Given the description of an element on the screen output the (x, y) to click on. 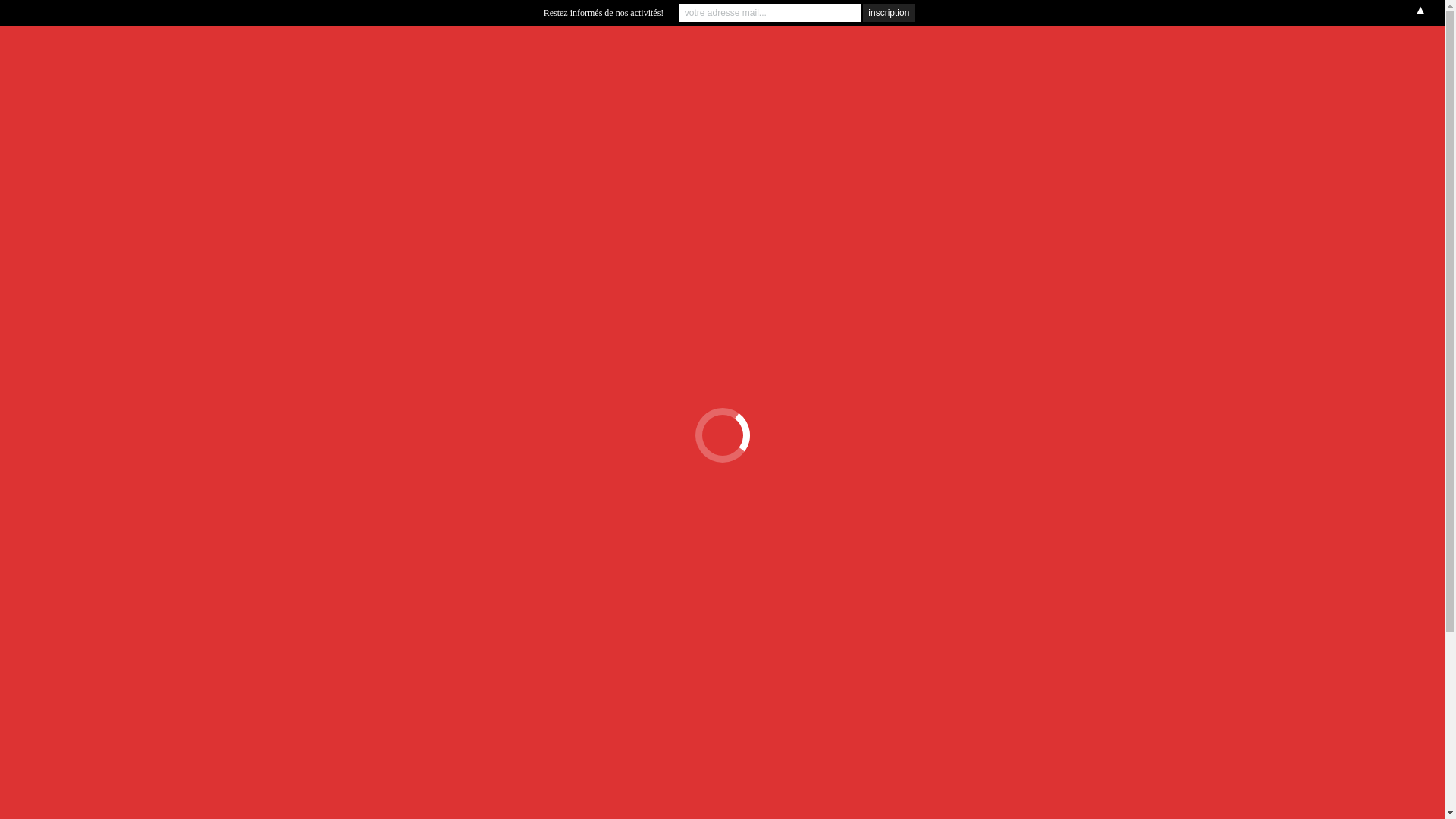
Formations Element type: text (495, 130)
Videos Element type: text (648, 130)
Contact Element type: text (853, 130)
Verger conservatoire & animations Element type: text (749, 130)
Accueil Element type: text (1268, 177)
inscription Element type: text (888, 12)
Accueil Element type: text (448, 130)
 0 Element type: text (879, 122)
